Given the description of an element on the screen output the (x, y) to click on. 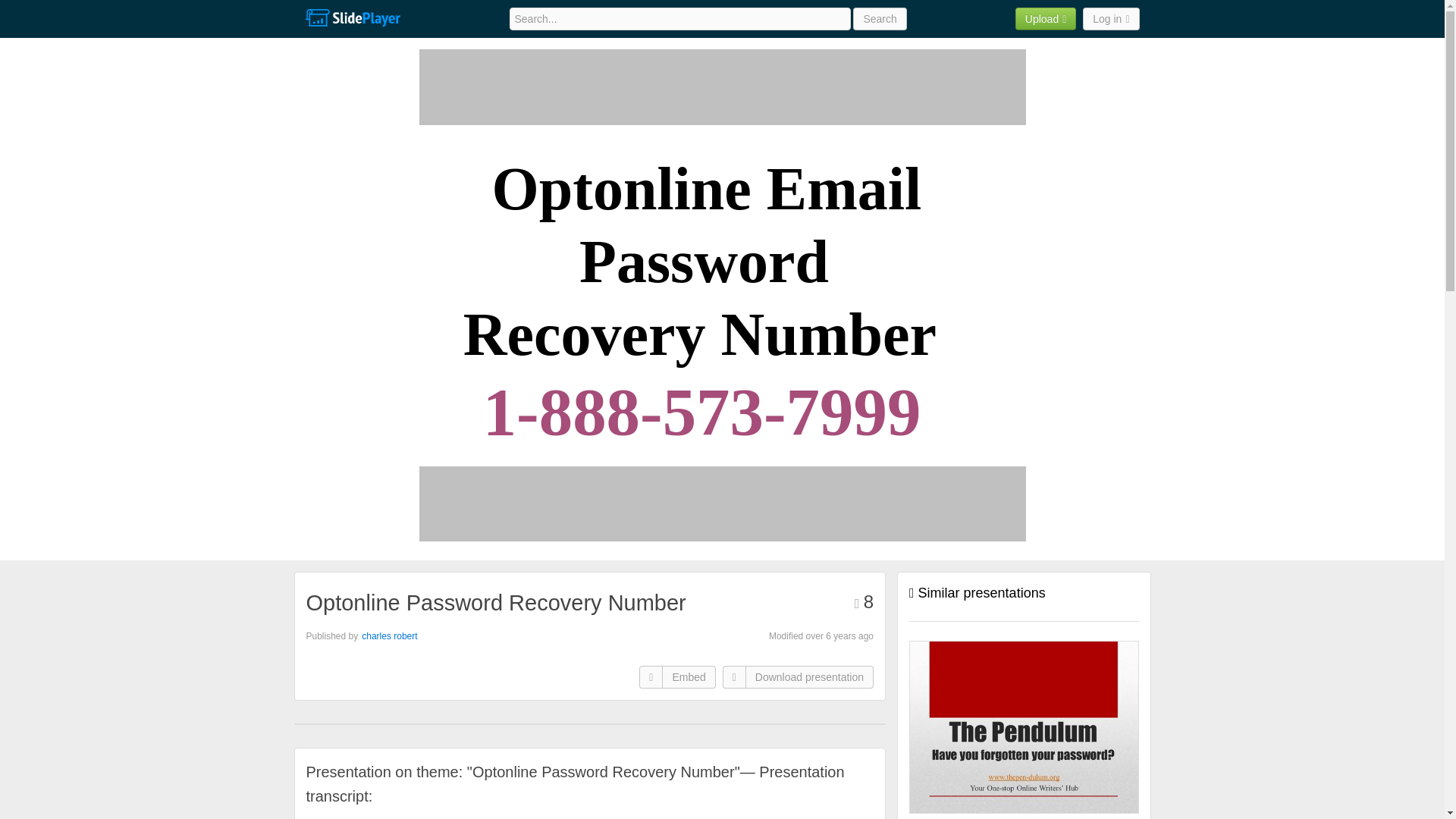
Search (879, 18)
Log in (1110, 18)
SlidePlayer (352, 18)
Upload (1045, 18)
charles robert (388, 635)
